Given the description of an element on the screen output the (x, y) to click on. 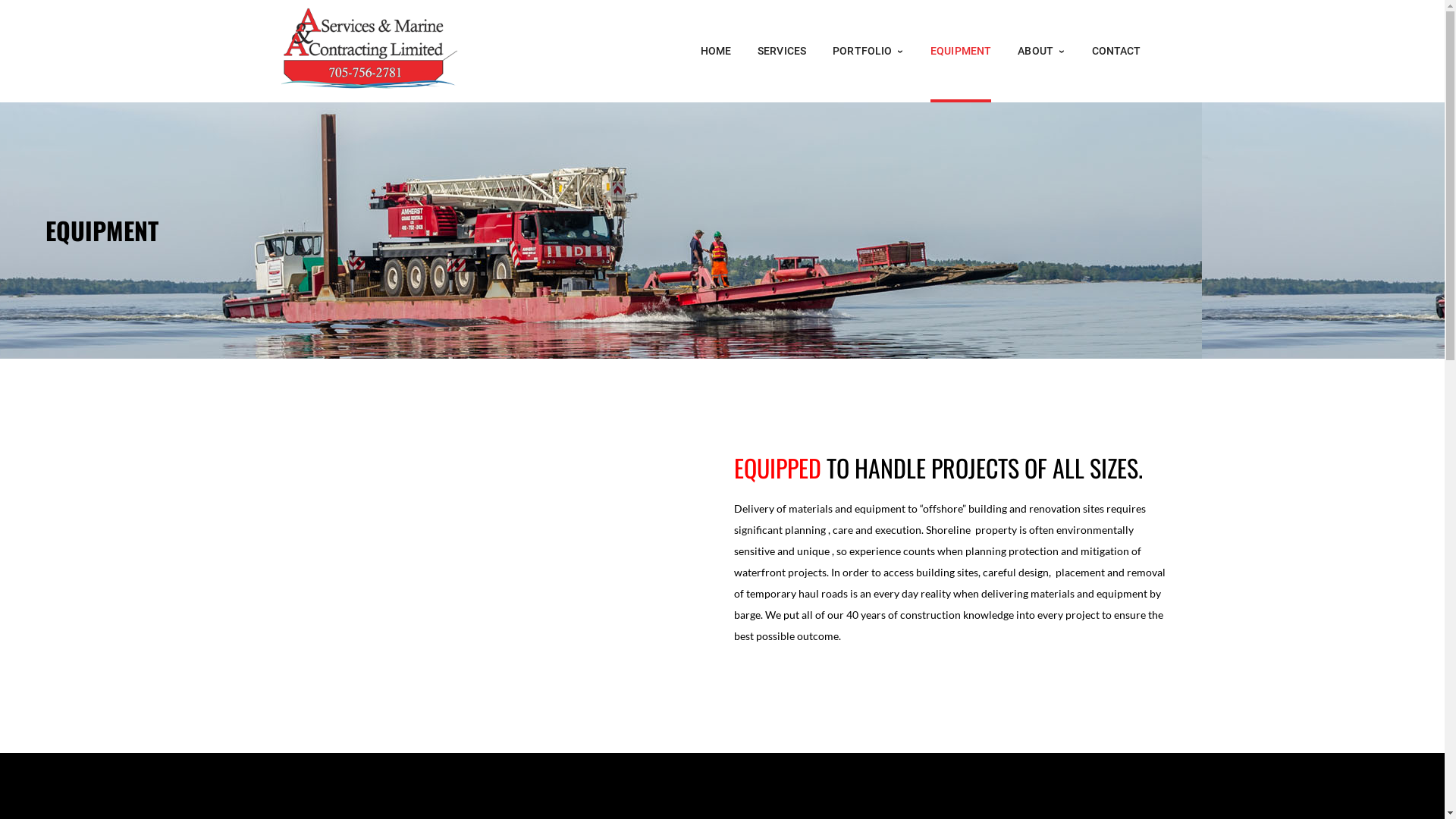
EQUIPMENT Element type: text (960, 51)
ABOUT Element type: text (1040, 51)
SERVICES Element type: text (781, 51)
CONTACT Element type: text (1116, 51)
HOME Element type: text (715, 51)
Send Element type: text (695, 563)
PORTFOLIO Element type: text (867, 51)
